Given the description of an element on the screen output the (x, y) to click on. 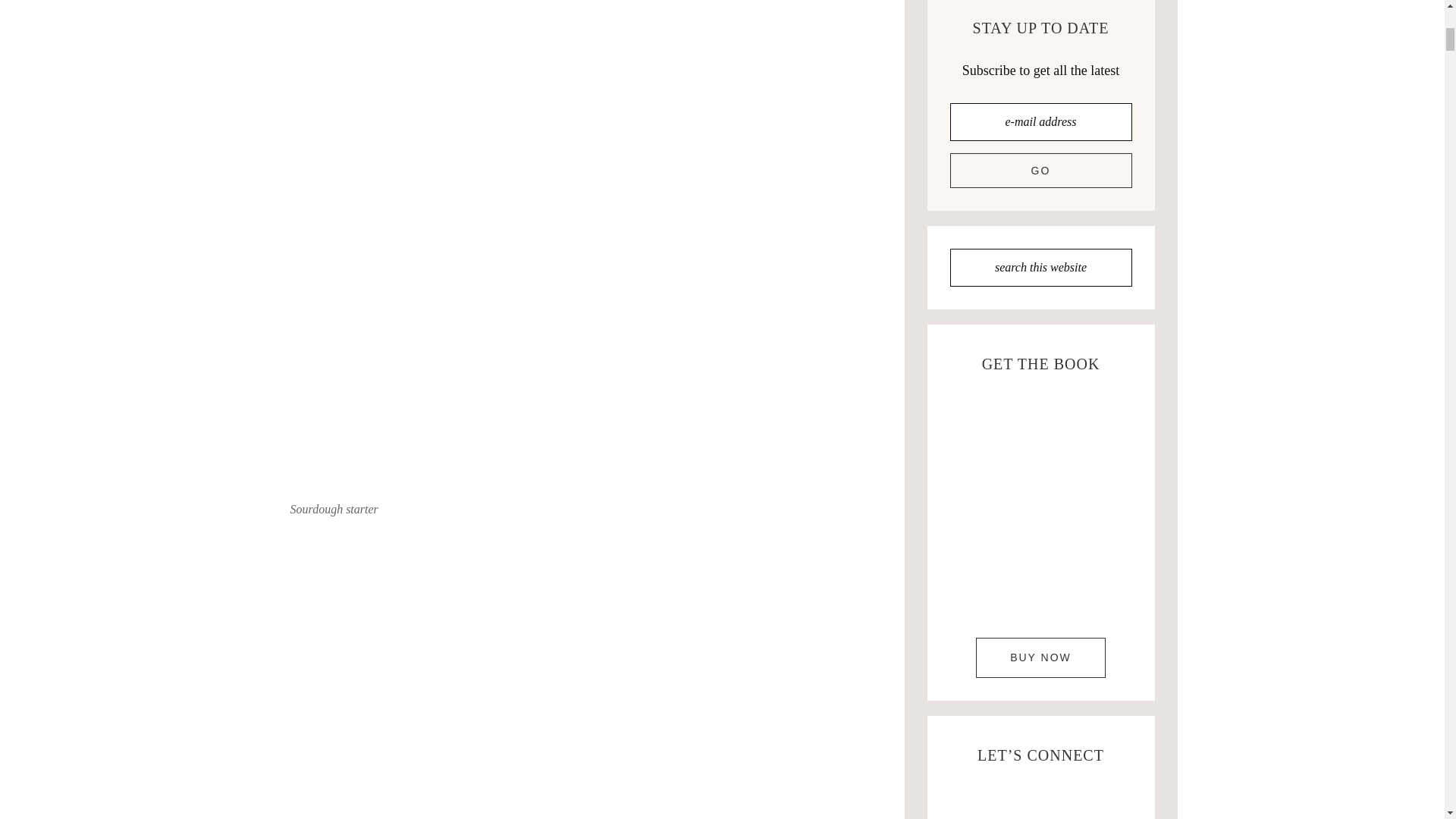
Go (1040, 170)
